Given the description of an element on the screen output the (x, y) to click on. 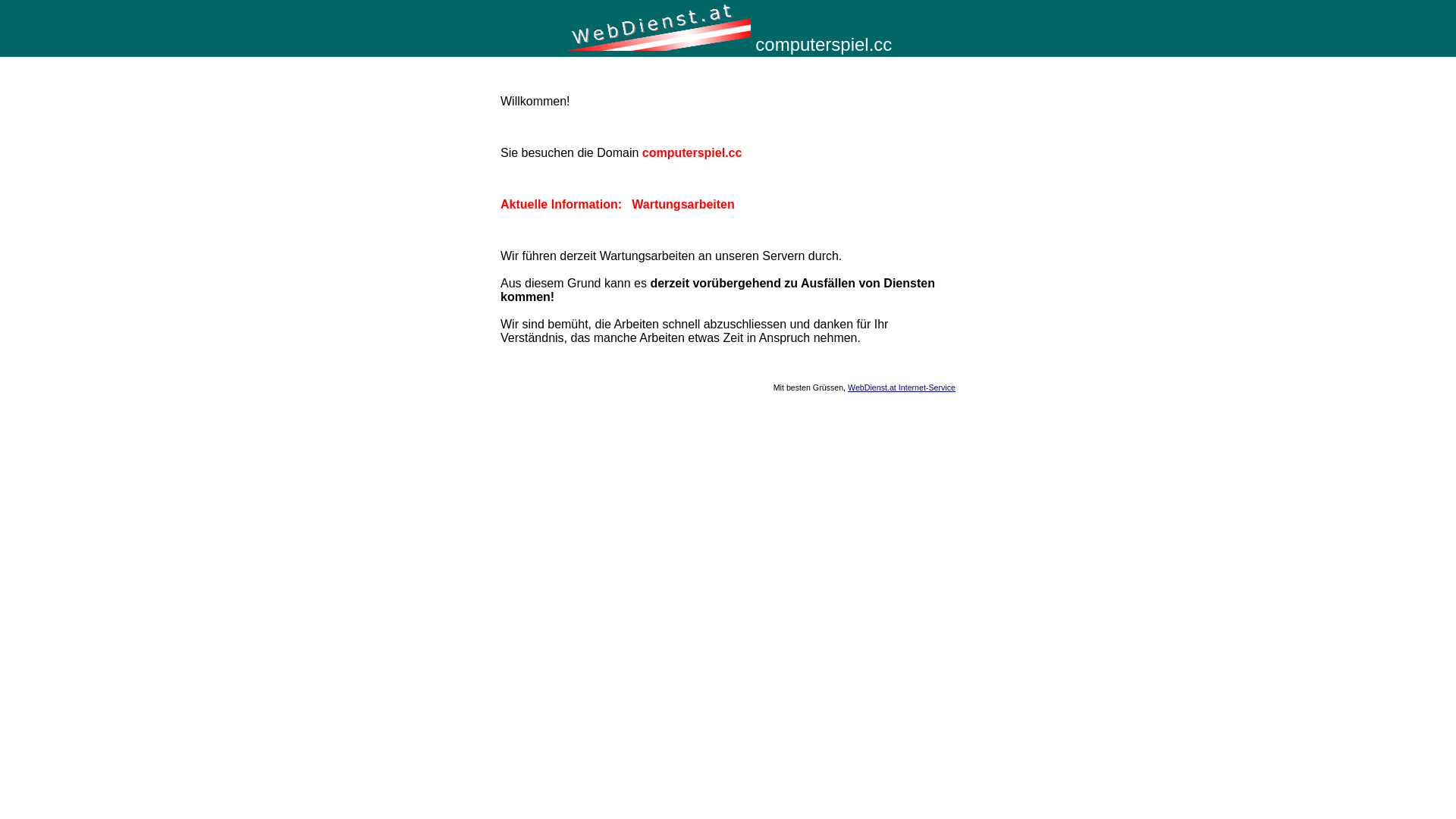
WebDienst.at Internet-Service Element type: text (901, 387)
